Given the description of an element on the screen output the (x, y) to click on. 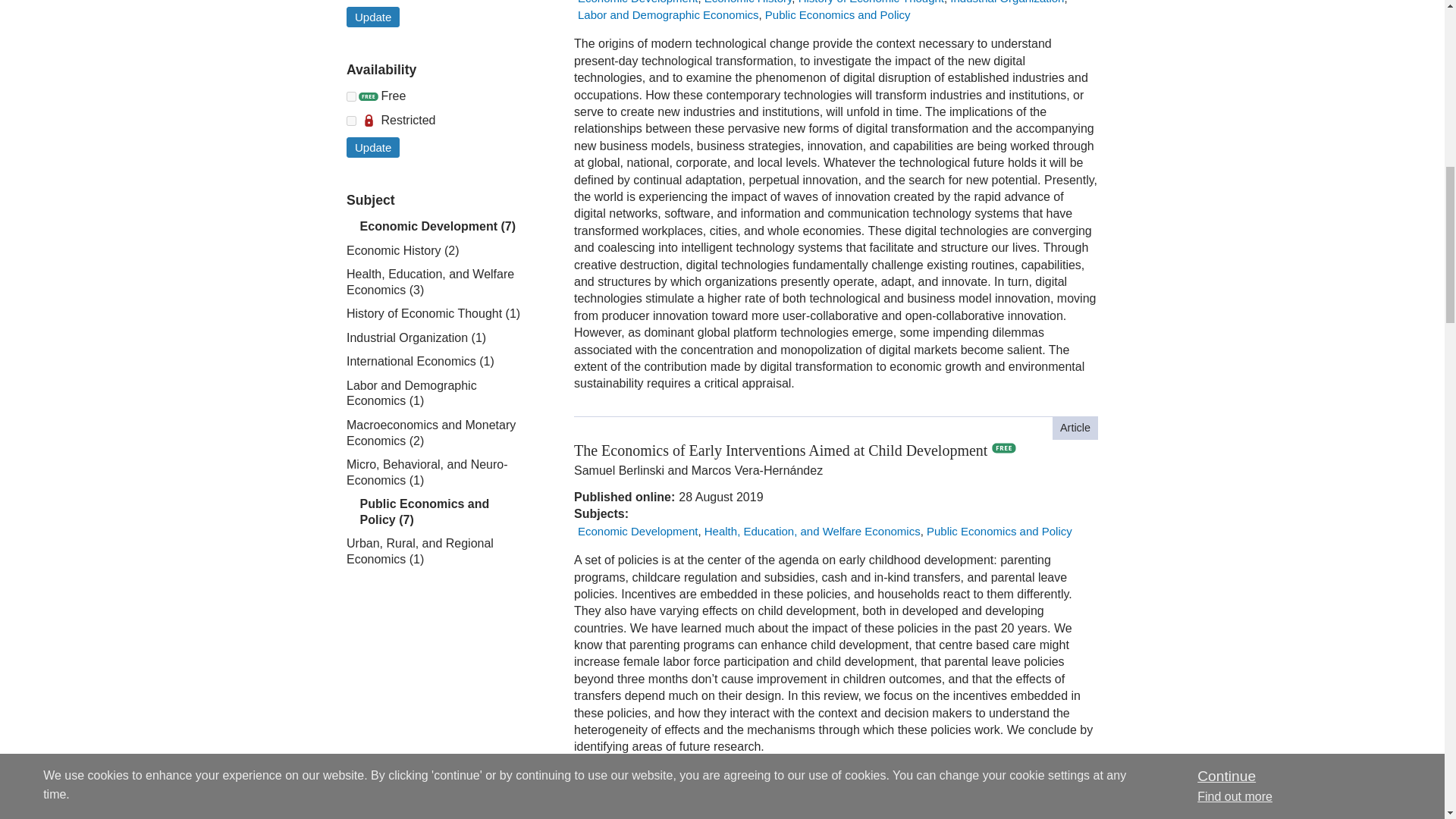
locked (351, 121)
free (351, 96)
